Given the description of an element on the screen output the (x, y) to click on. 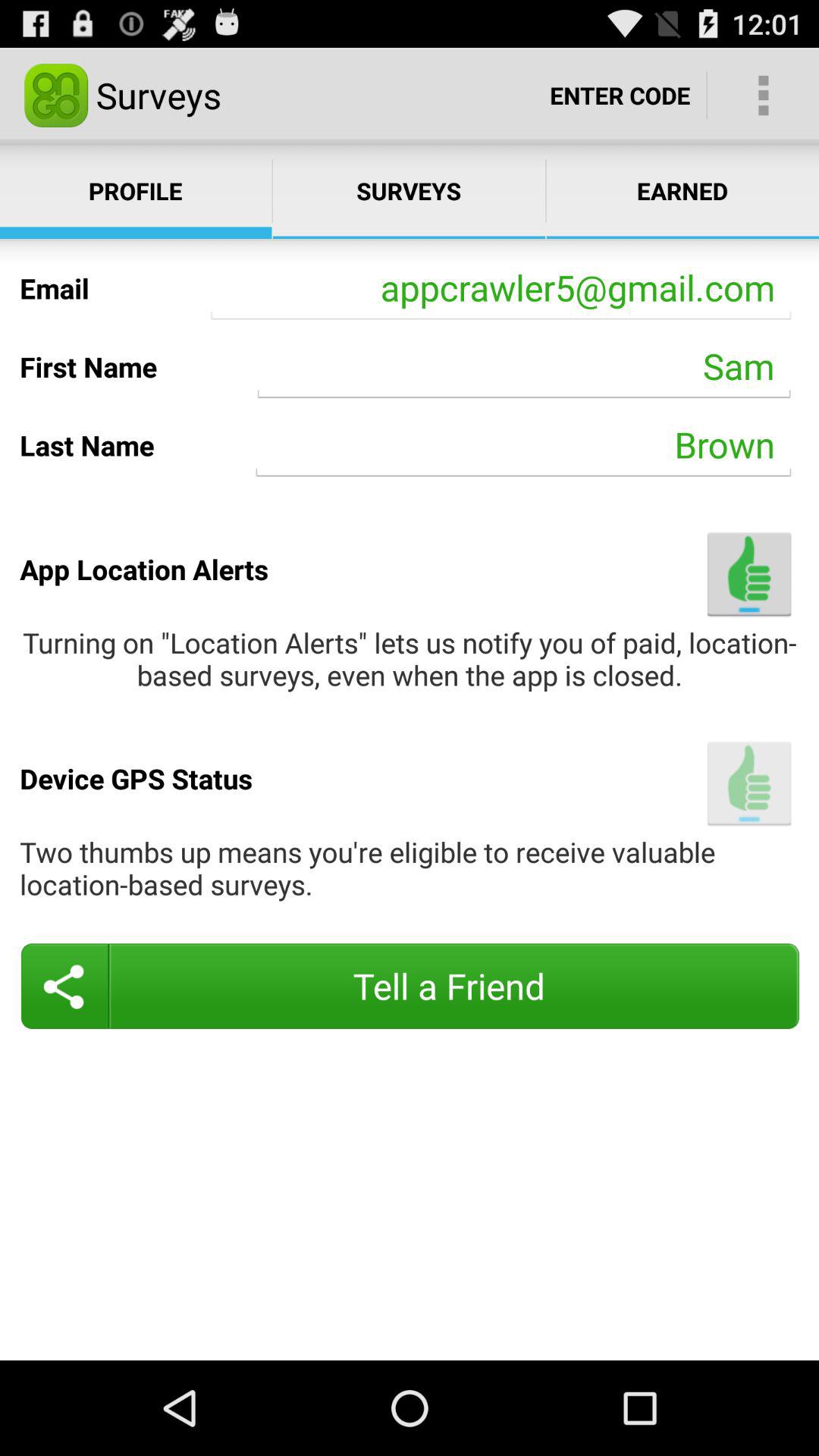
jump to the sam (523, 366)
